Given the description of an element on the screen output the (x, y) to click on. 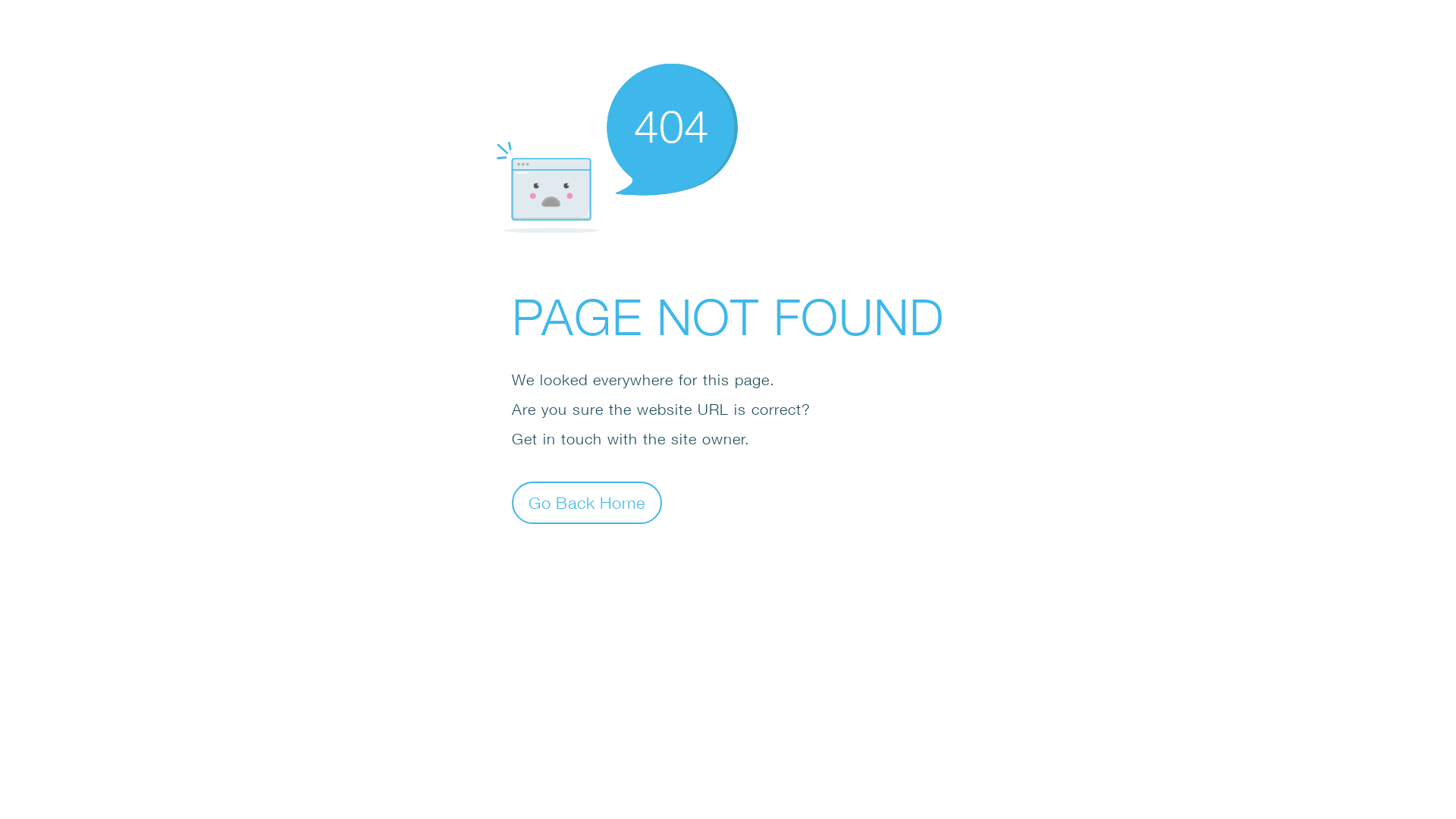
Go Back Home Element type: text (586, 502)
